Given the description of an element on the screen output the (x, y) to click on. 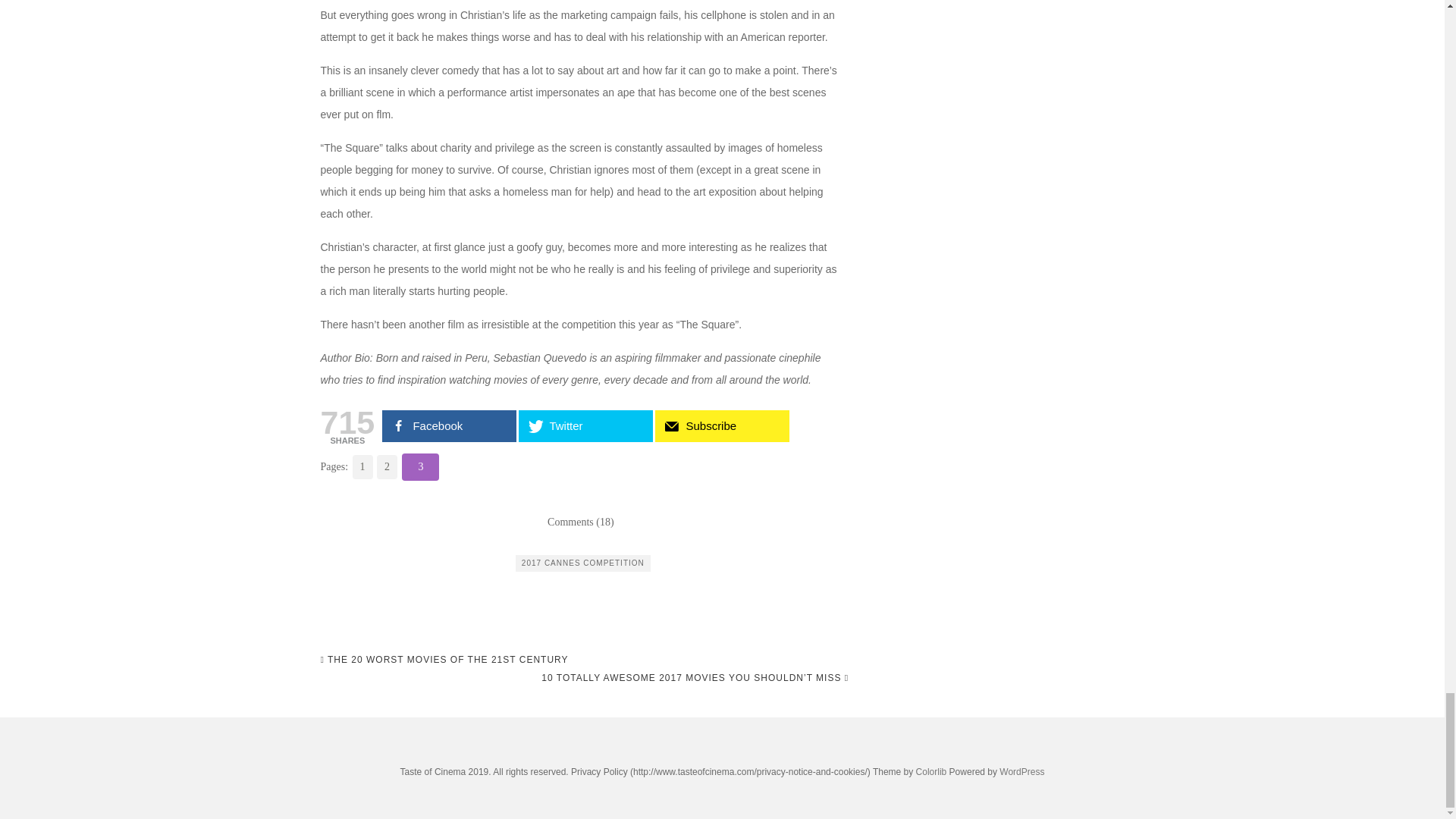
Subscribe (722, 426)
2 (386, 466)
Twitter (585, 426)
1 (361, 466)
THE 20 WORST MOVIES OF THE 21ST CENTURY (443, 659)
2017 CANNES COMPETITION (582, 563)
Facebook (448, 426)
